Given the description of an element on the screen output the (x, y) to click on. 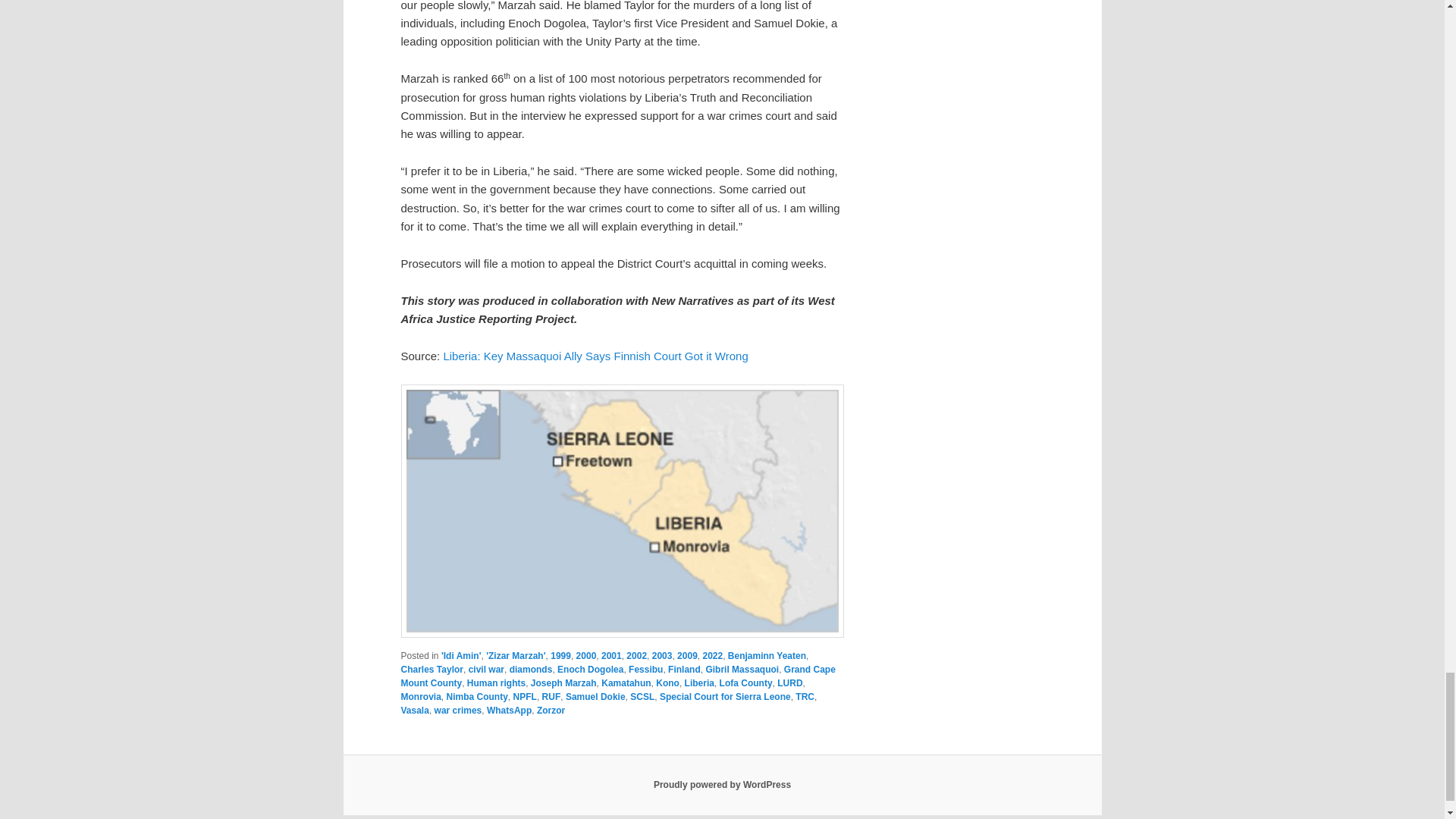
Semantic Personal Publishing Platform (721, 784)
